Given the description of an element on the screen output the (x, y) to click on. 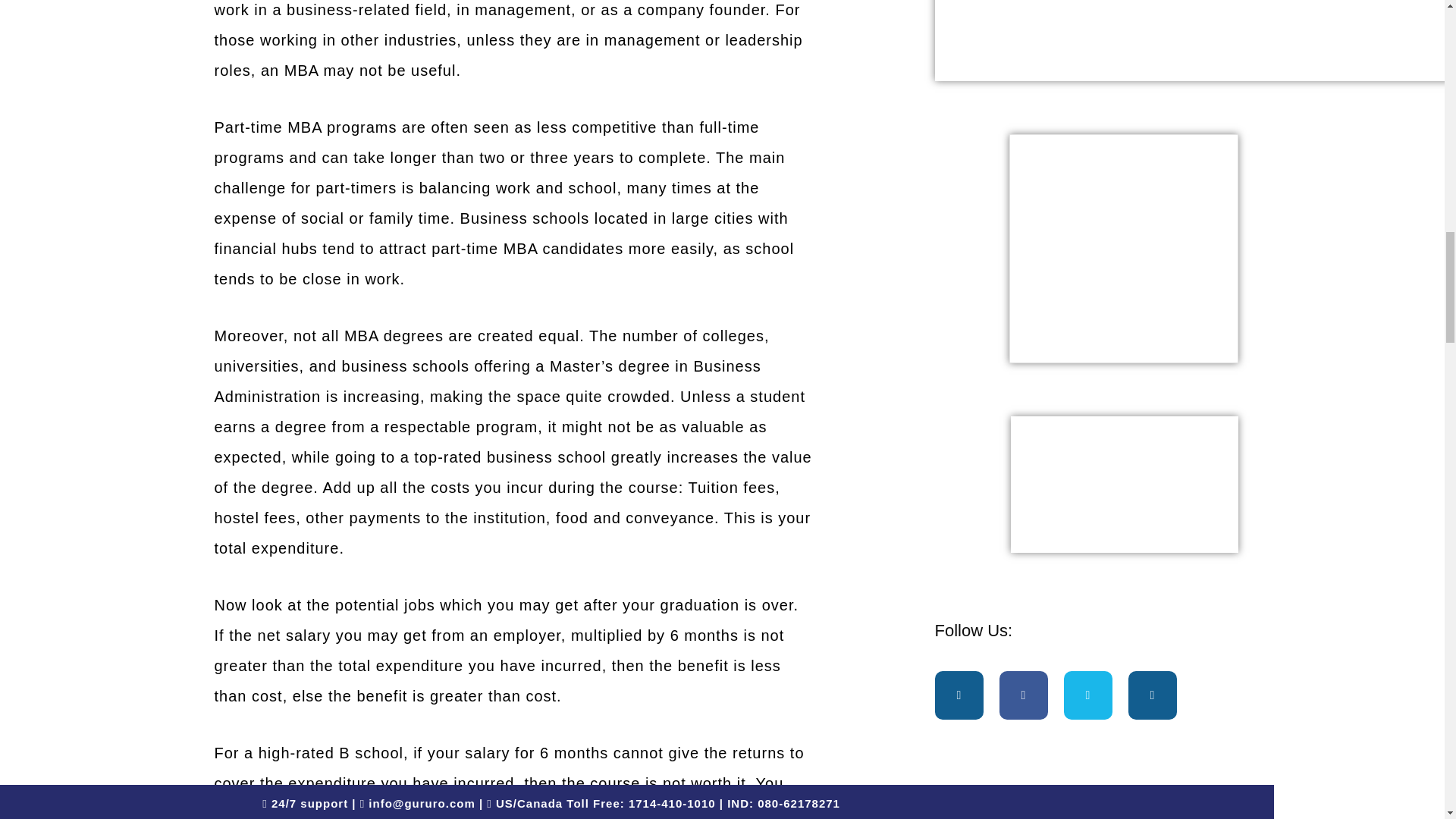
Linkedin (958, 694)
Twitter (1087, 694)
Facebook-f (1023, 694)
Instagram (1152, 694)
